Given the description of an element on the screen output the (x, y) to click on. 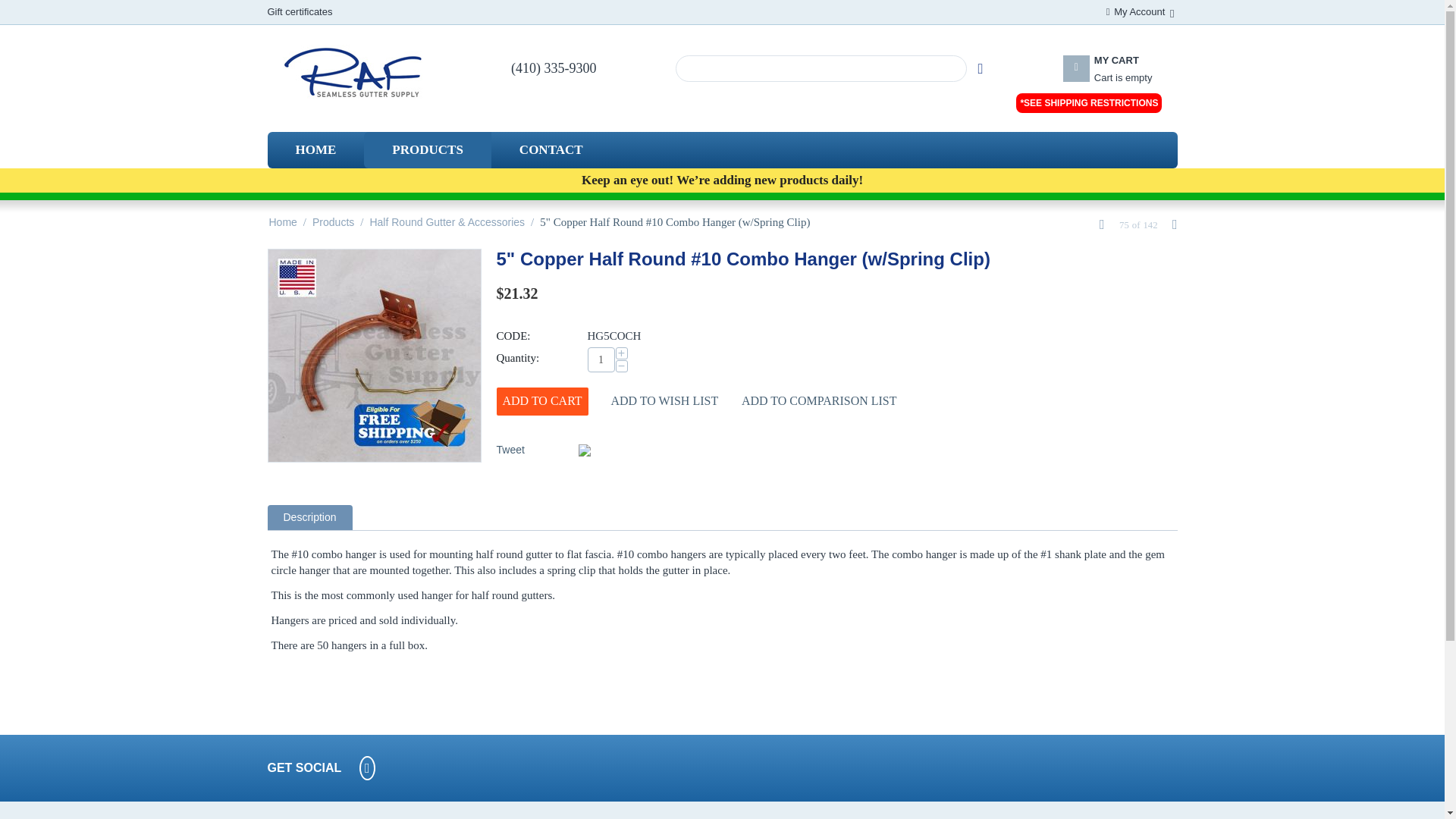
Search (979, 68)
Gift certificates (298, 11)
Search products (821, 68)
1 (1121, 77)
HOME (600, 359)
PRODUCTS (315, 149)
My Account (428, 149)
